Given the description of an element on the screen output the (x, y) to click on. 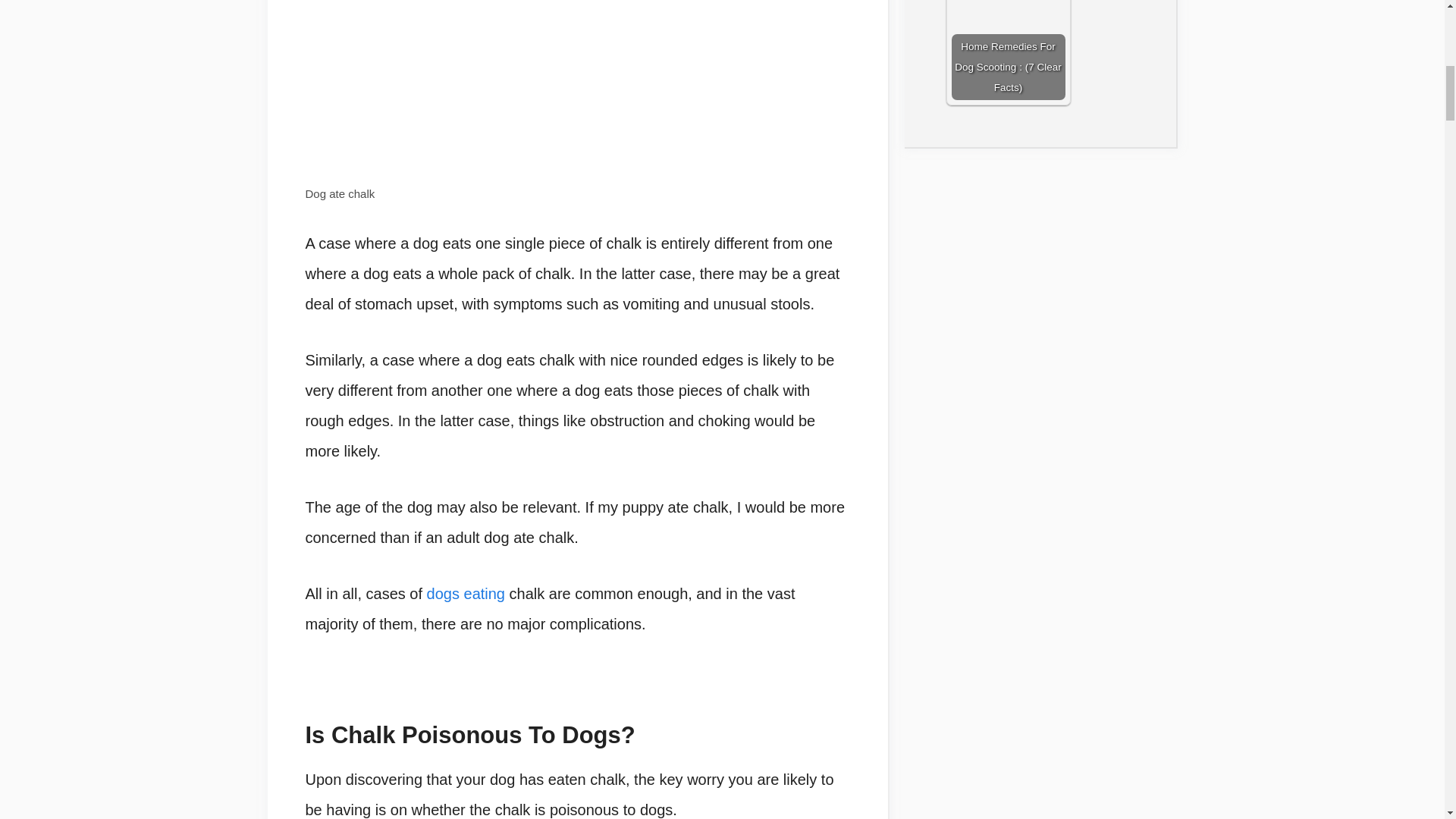
Can Dogs Eat Applesauce? 9 Cool Tips To Keep It Dog Safe (465, 593)
